Given the description of an element on the screen output the (x, y) to click on. 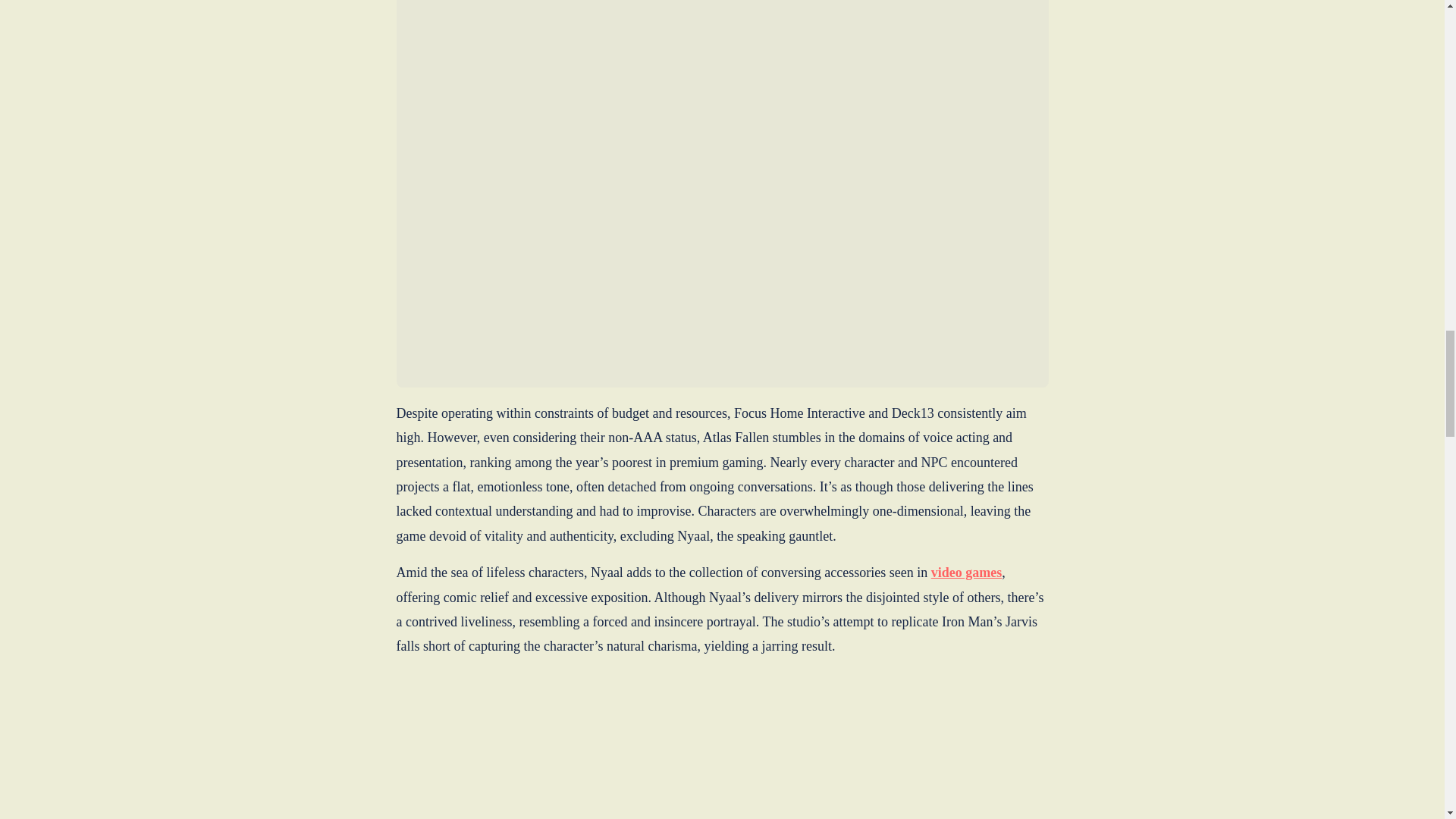
video games (967, 572)
